Given the description of an element on the screen output the (x, y) to click on. 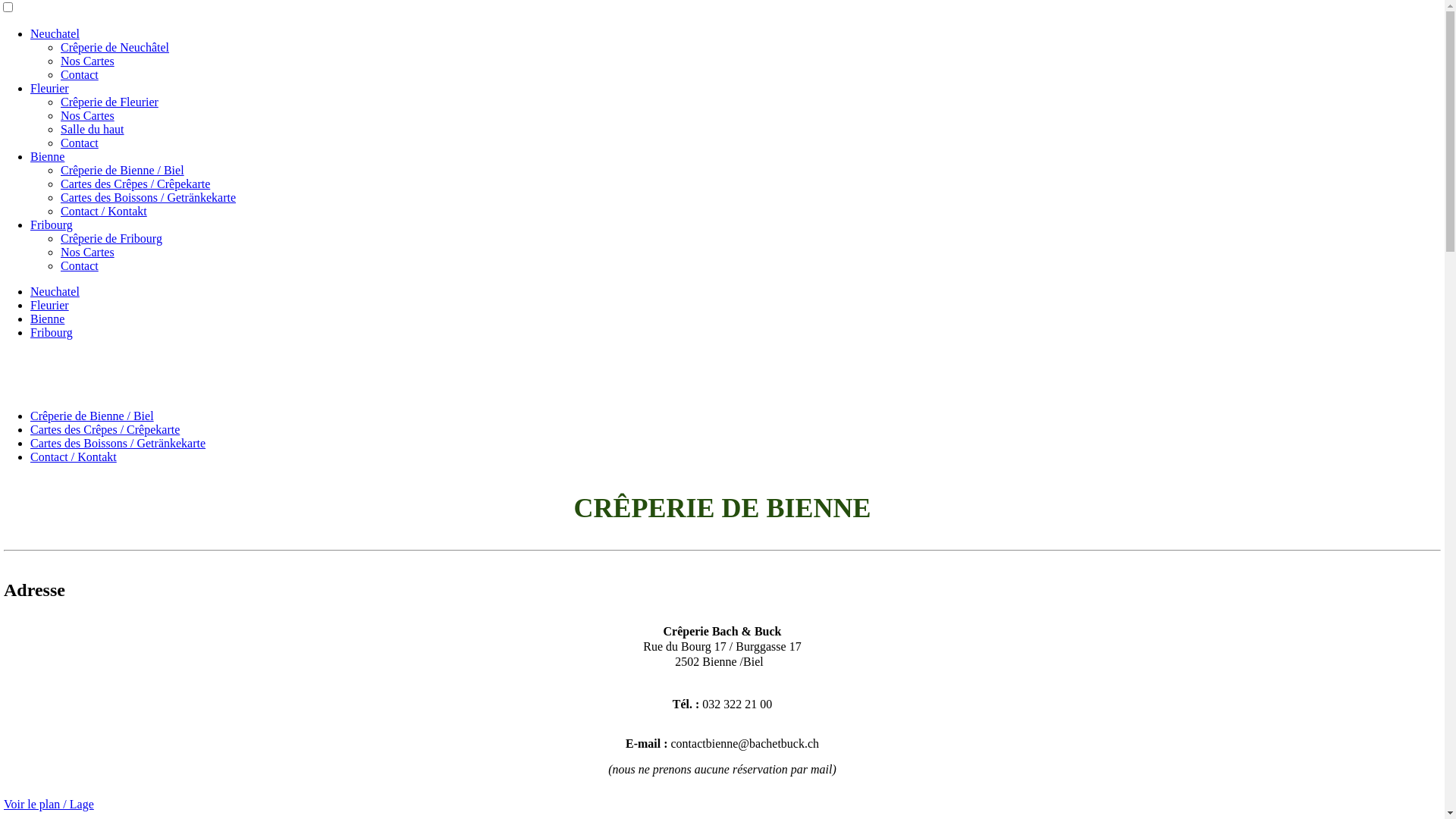
Bienne Element type: text (47, 318)
Fribourg Element type: text (51, 224)
Nos Cartes Element type: text (87, 115)
Neuchatel Element type: text (54, 33)
Contact / Kontakt Element type: text (73, 456)
Fribourg Element type: text (51, 332)
Contact Element type: text (79, 265)
Contact / Kontakt Element type: text (103, 210)
Neuchatel Element type: text (54, 291)
Fleurier Element type: text (49, 87)
Salle du haut Element type: text (92, 128)
Contact Element type: text (79, 74)
Nos Cartes Element type: text (87, 251)
Bienne Element type: text (47, 156)
Voir le plan / Lage Element type: text (48, 803)
Fleurier Element type: text (49, 304)
Contact Element type: text (79, 142)
Nos Cartes Element type: text (87, 60)
